Given the description of an element on the screen output the (x, y) to click on. 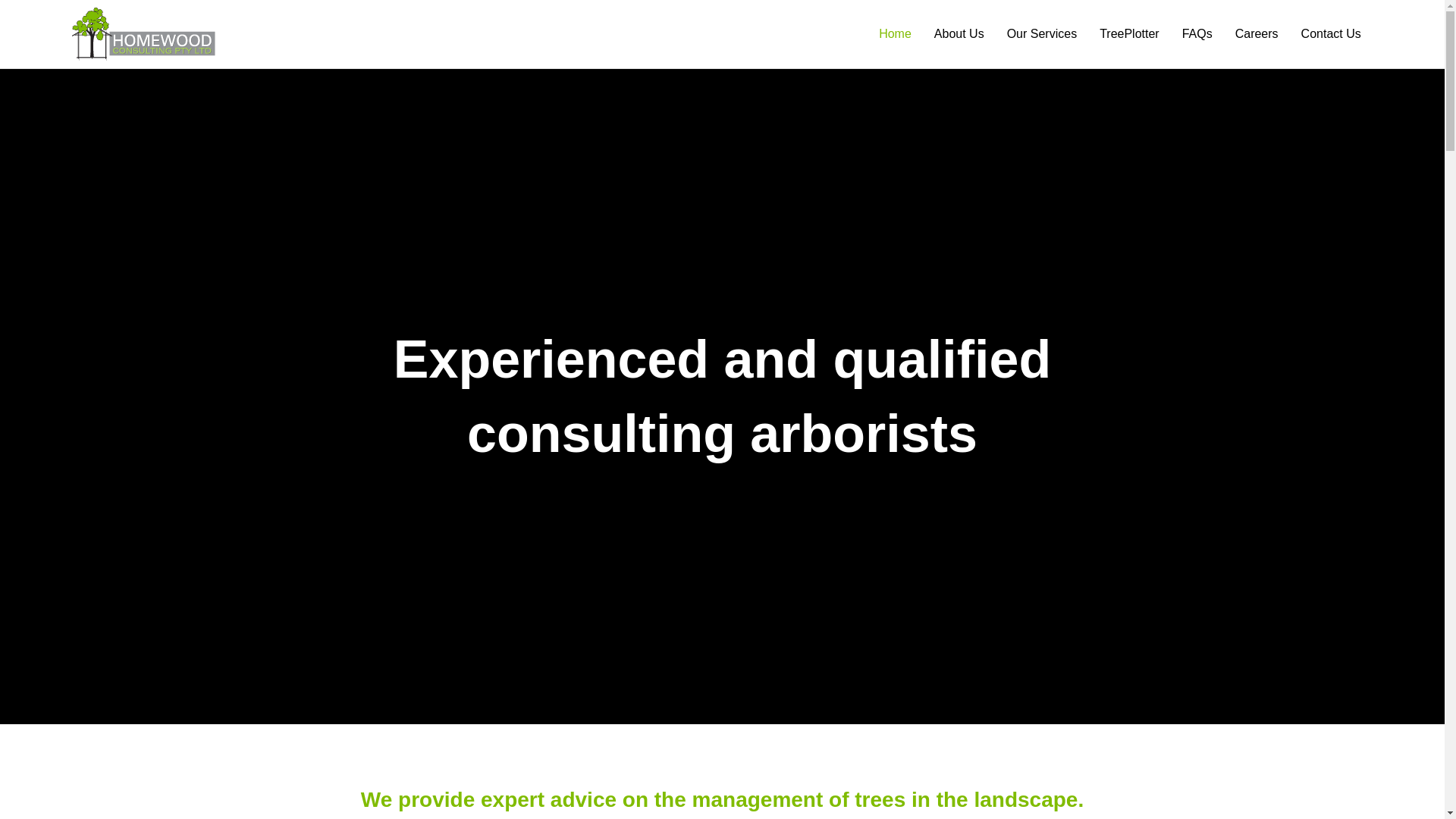
About Us Element type: text (958, 33)
Home Element type: text (894, 33)
Our Services Element type: text (1041, 33)
Contact Us Element type: text (1330, 33)
FAQs Element type: text (1196, 33)
Careers Element type: text (1256, 33)
TreePlotter Element type: text (1129, 33)
